Given the description of an element on the screen output the (x, y) to click on. 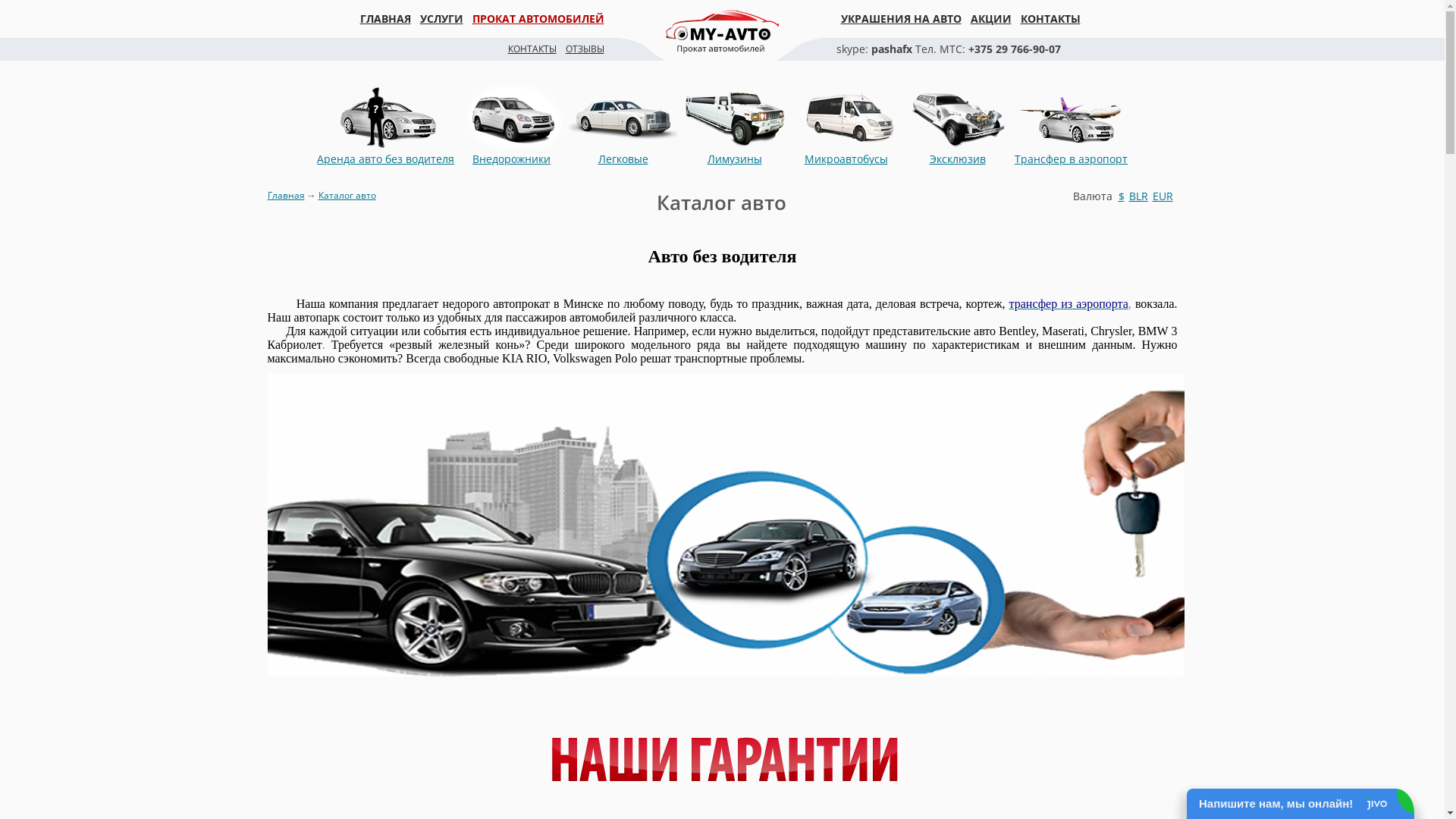
$ Element type: text (1120, 195)
BLR Element type: text (1137, 195)
EUR Element type: text (1162, 195)
